Given the description of an element on the screen output the (x, y) to click on. 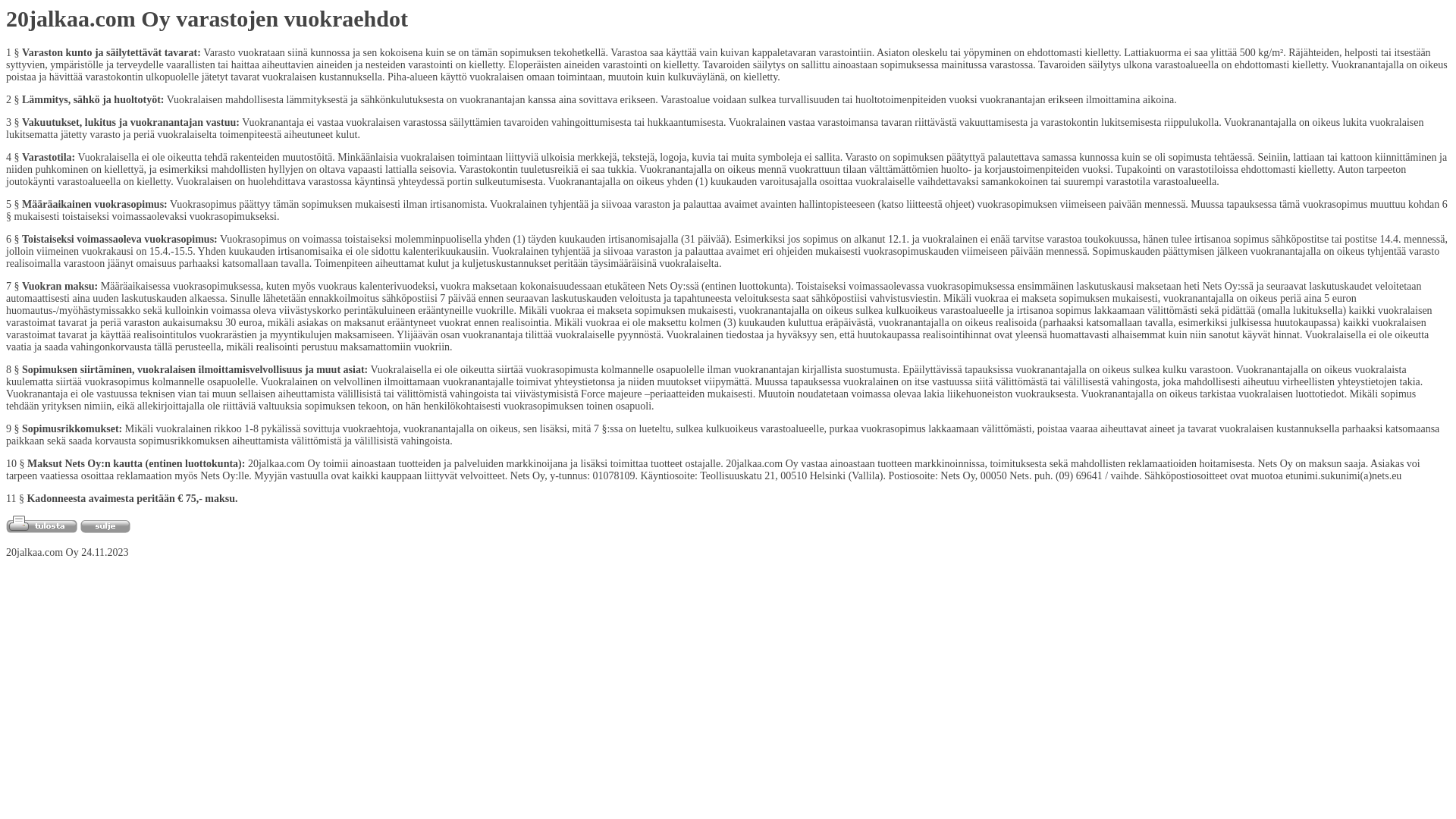
Tulosta Element type: hover (41, 524)
Sulje Element type: hover (105, 526)
